Given the description of an element on the screen output the (x, y) to click on. 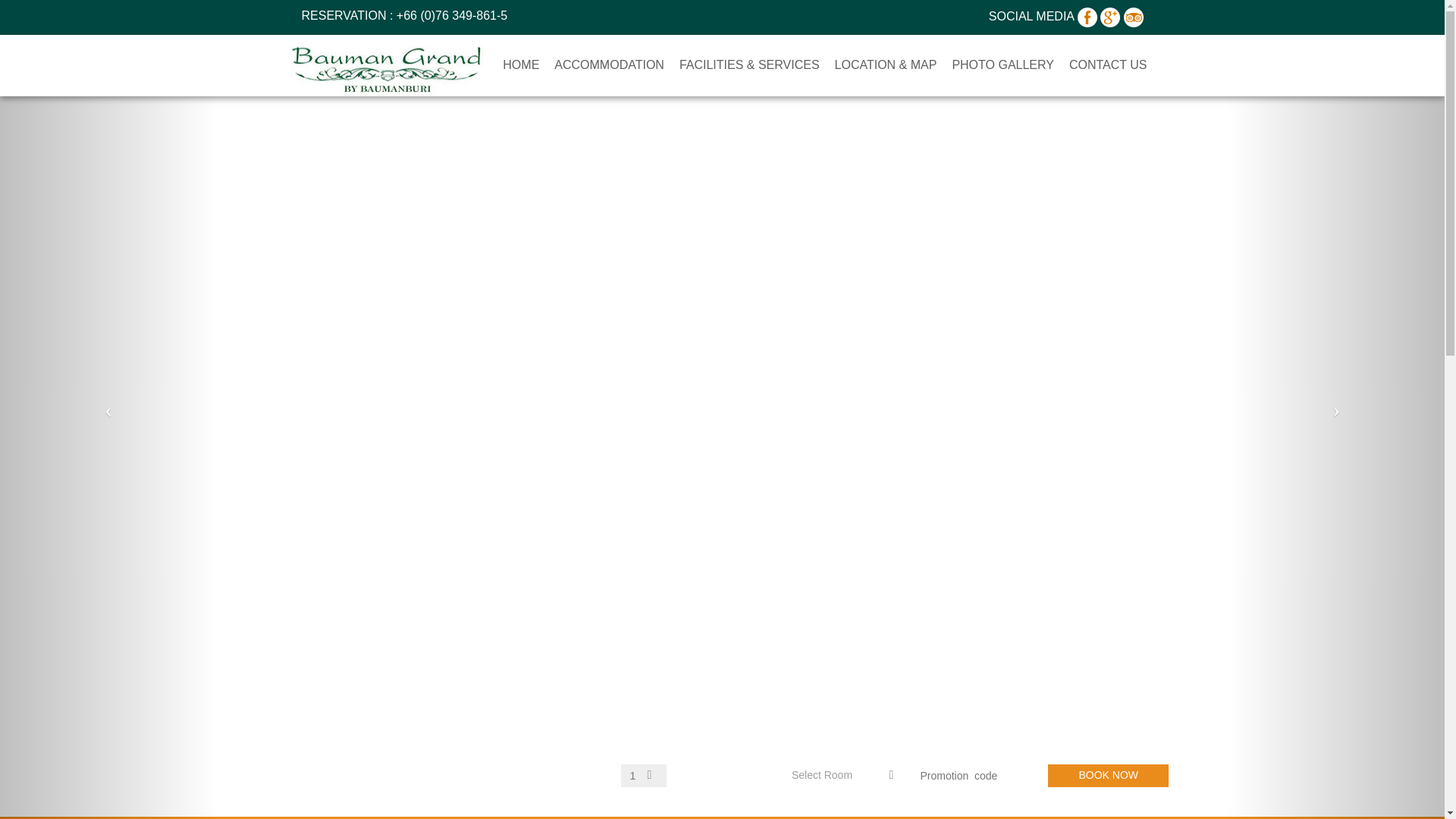
CONTACT US (1107, 64)
Book Now (1108, 775)
1 (643, 775)
PHOTO GALLERY (1002, 64)
ACCOMMODATION (609, 64)
HOME (521, 64)
Book Now (1108, 775)
